Given the description of an element on the screen output the (x, y) to click on. 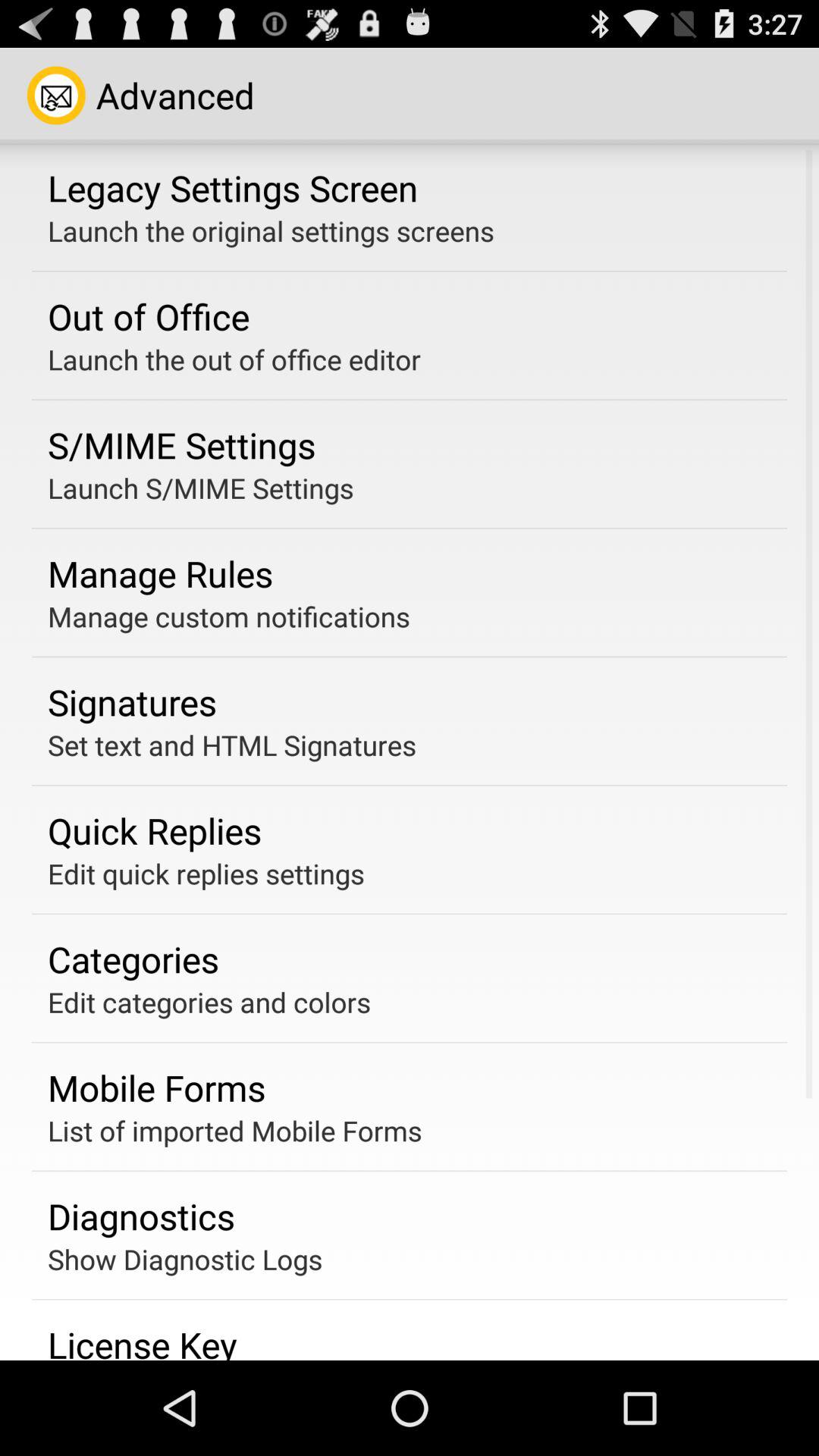
choose the app above the license key item (184, 1258)
